Given the description of an element on the screen output the (x, y) to click on. 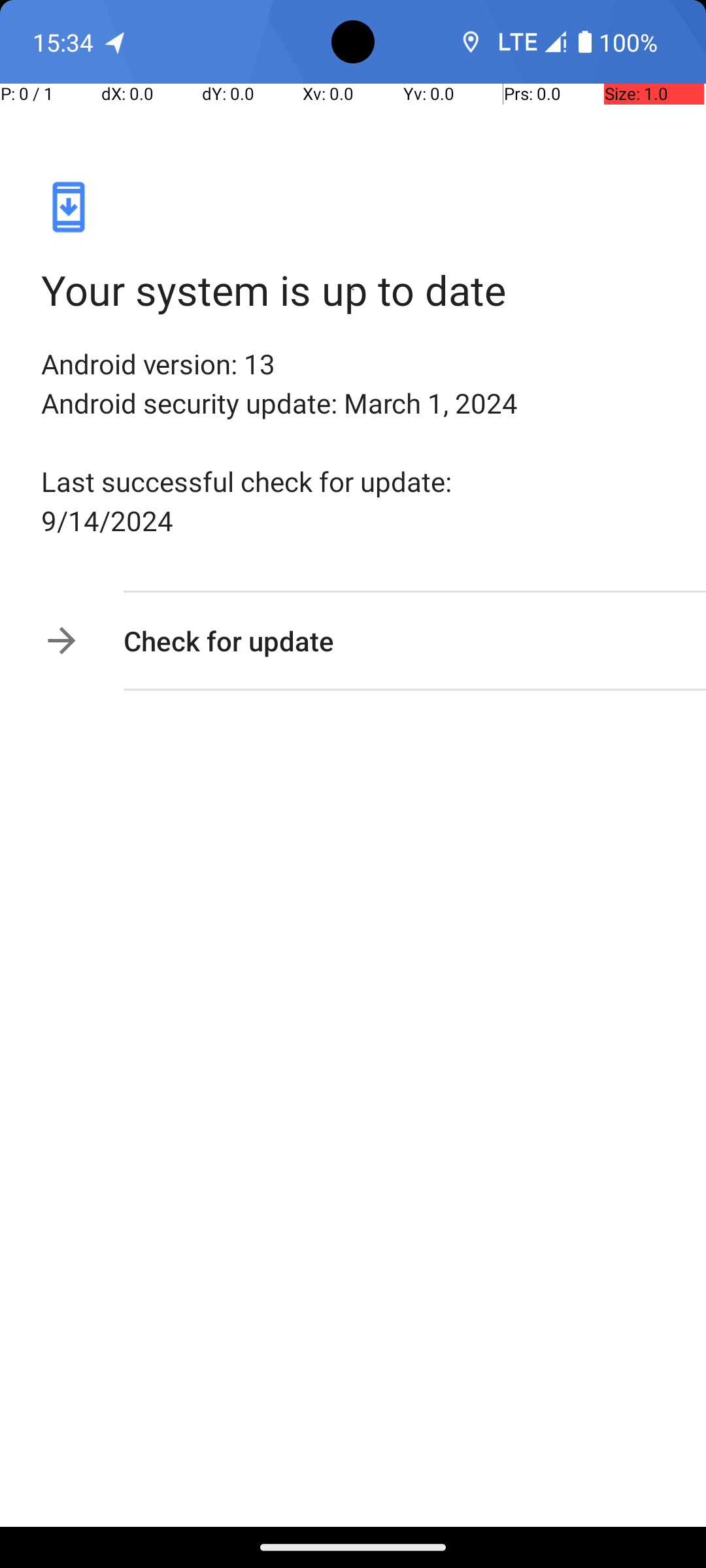
Your system is up to date Element type: android.widget.TextView (352, 289)
Android version: 13
Android security update: March 1, 2024

Last successful check for update:
9/14/2024 Element type: android.widget.TextView (352, 441)
Check for update Element type: android.widget.TextView (393, 640)
